Given the description of an element on the screen output the (x, y) to click on. 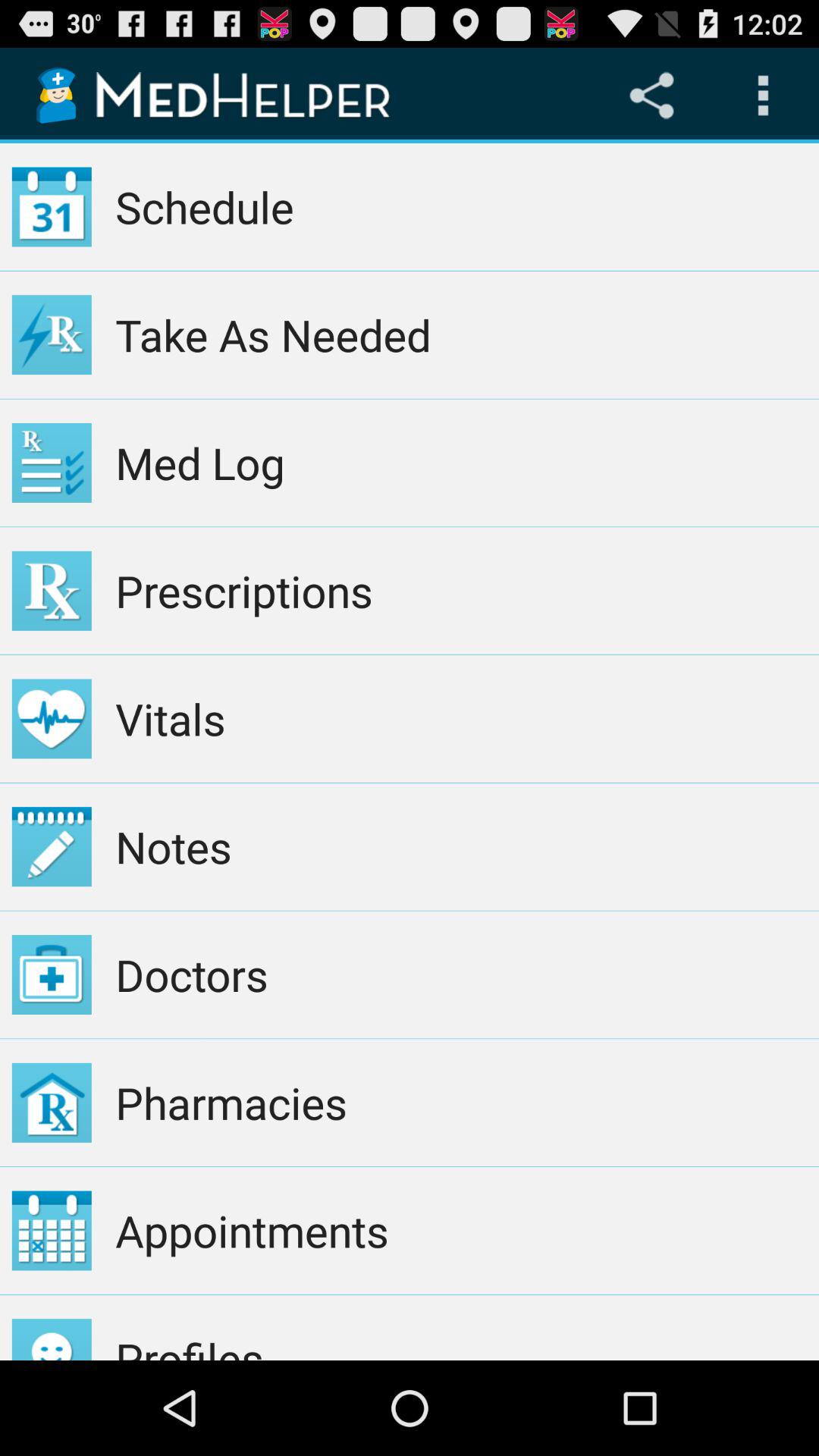
launch item below schedule app (461, 334)
